Given the description of an element on the screen output the (x, y) to click on. 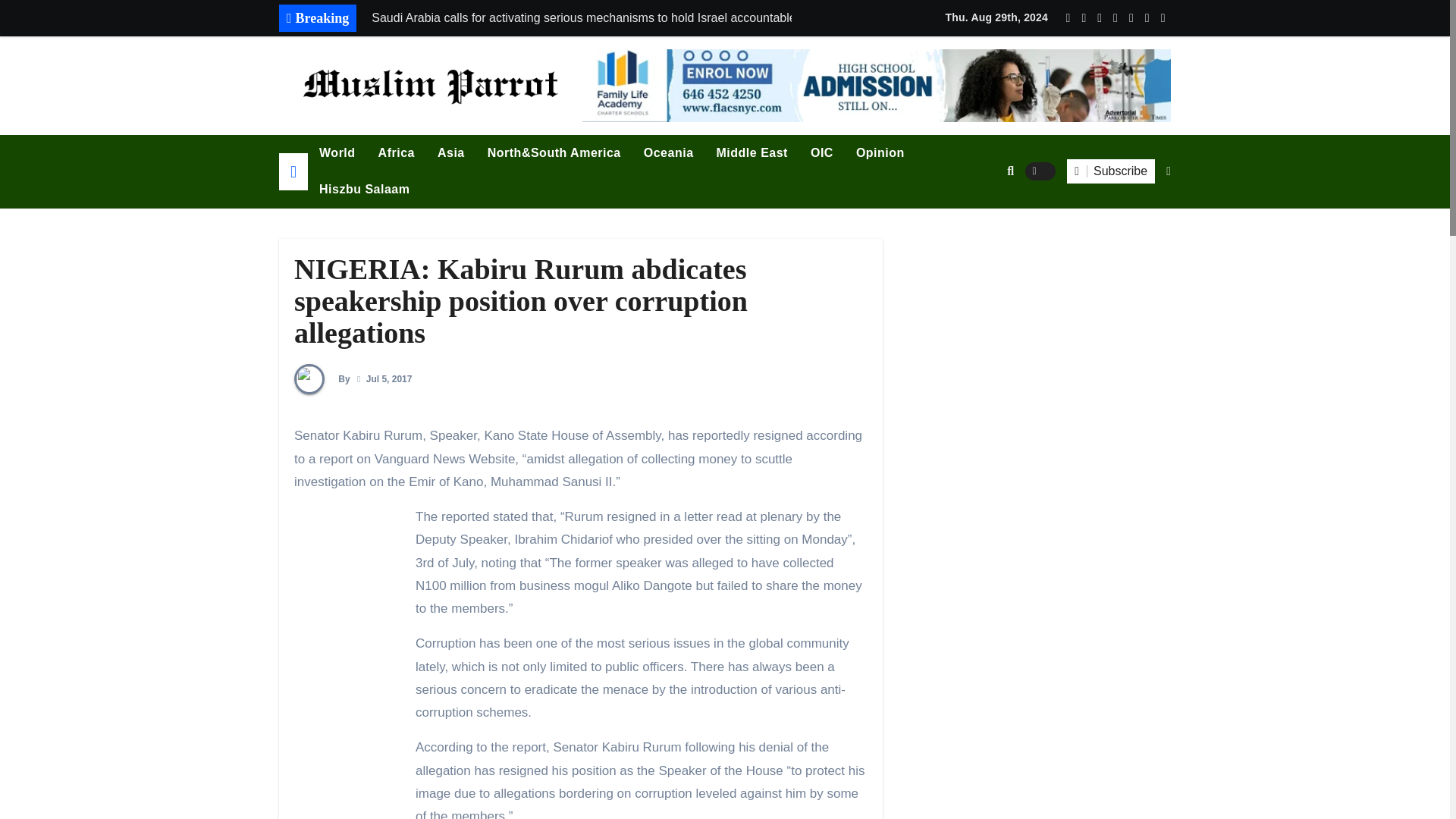
OIC (821, 153)
Hiszbu Salaam (363, 189)
Africa (396, 153)
World (336, 153)
Opinion (879, 153)
Middle East (751, 153)
Oceania (667, 153)
Asia (451, 153)
